Given the description of an element on the screen output the (x, y) to click on. 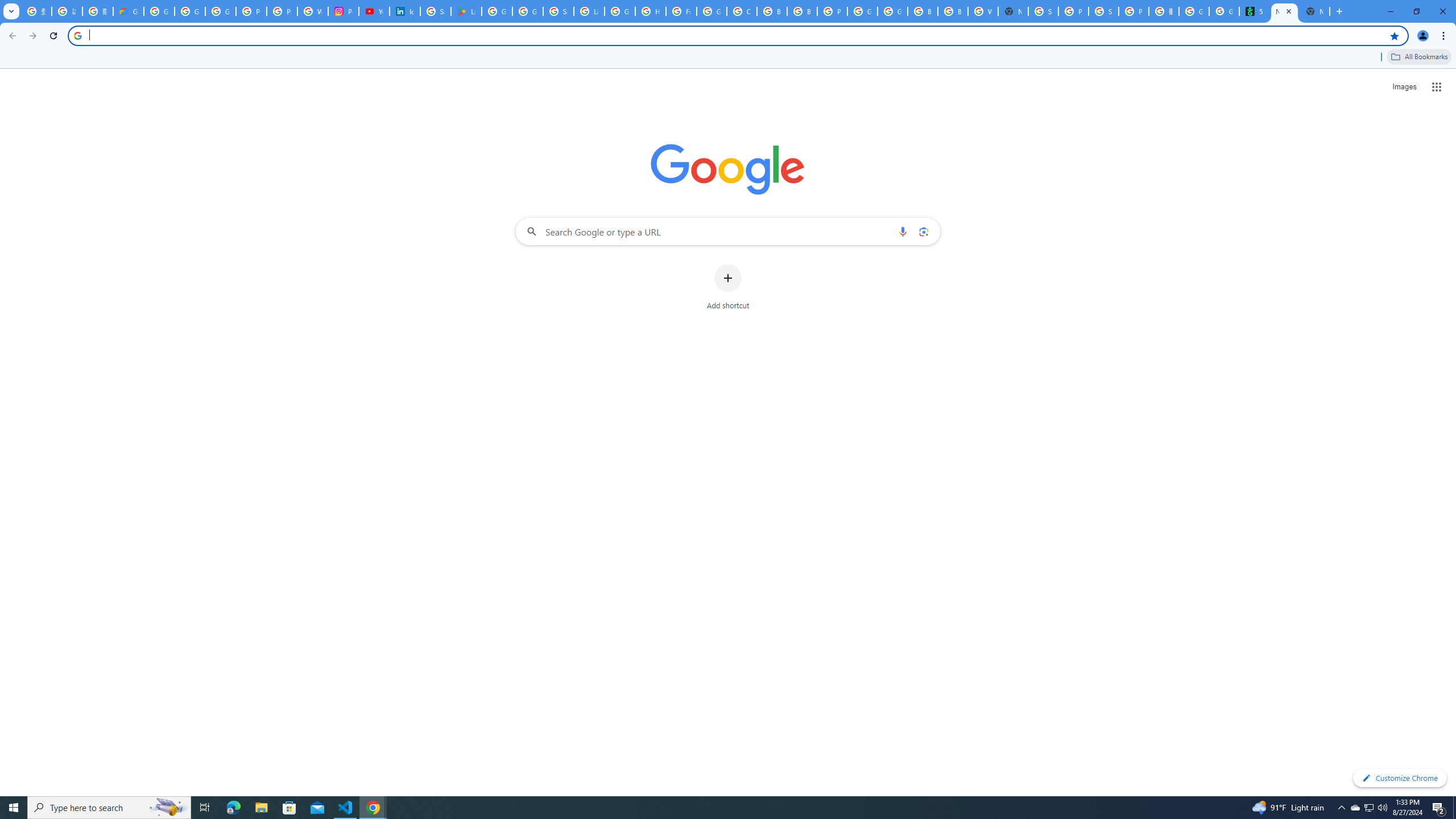
Search by voice (902, 230)
New Tab (1314, 11)
YouTube Culture & Trends - On The Rise: Handcam Videos (373, 11)
Search for Images  (1403, 87)
Bookmarks (728, 58)
Google Cloud Platform (862, 11)
